Given the description of an element on the screen output the (x, y) to click on. 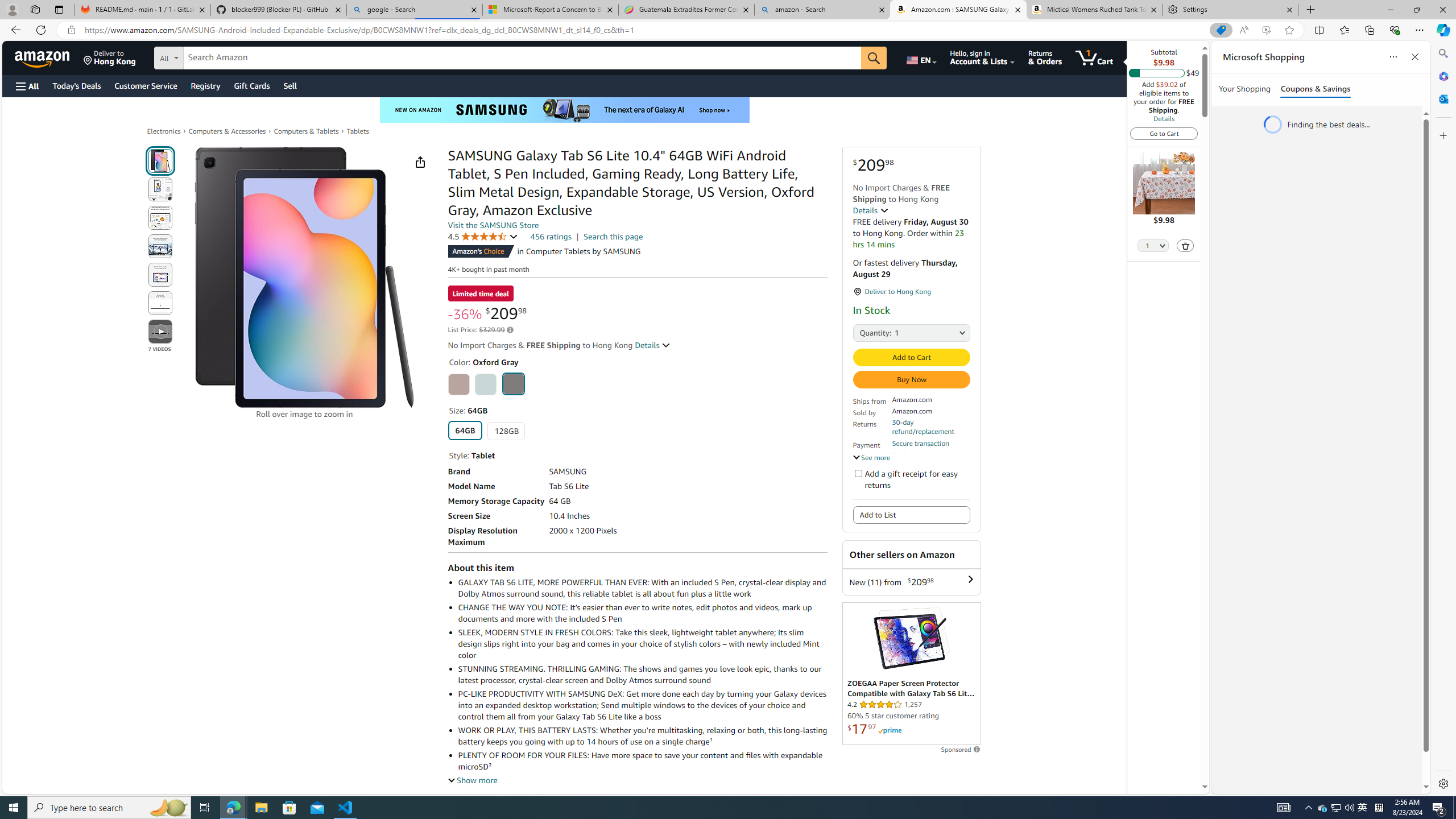
Search Amazon (522, 57)
Chiffon Pink (458, 384)
456 ratings (550, 236)
Prime (889, 730)
Learn more about Amazon pricing and savings (509, 329)
Returns & Orders (1045, 57)
